Given the description of an element on the screen output the (x, y) to click on. 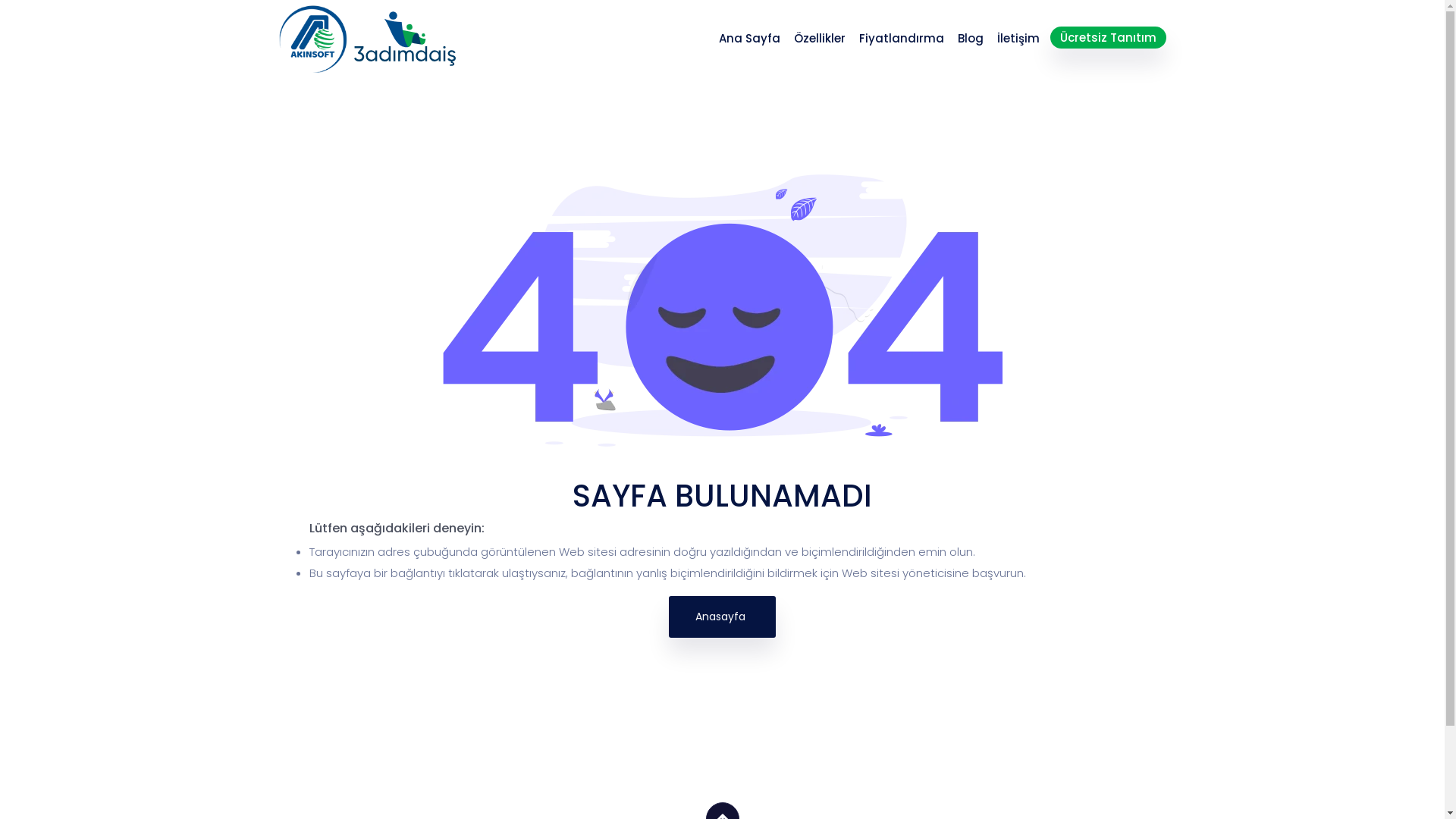
Blog Element type: text (969, 38)
Ana Sayfa Element type: text (749, 38)
Anasayfa Element type: text (721, 617)
AKINSOFT Element type: hover (313, 38)
